Given the description of an element on the screen output the (x, y) to click on. 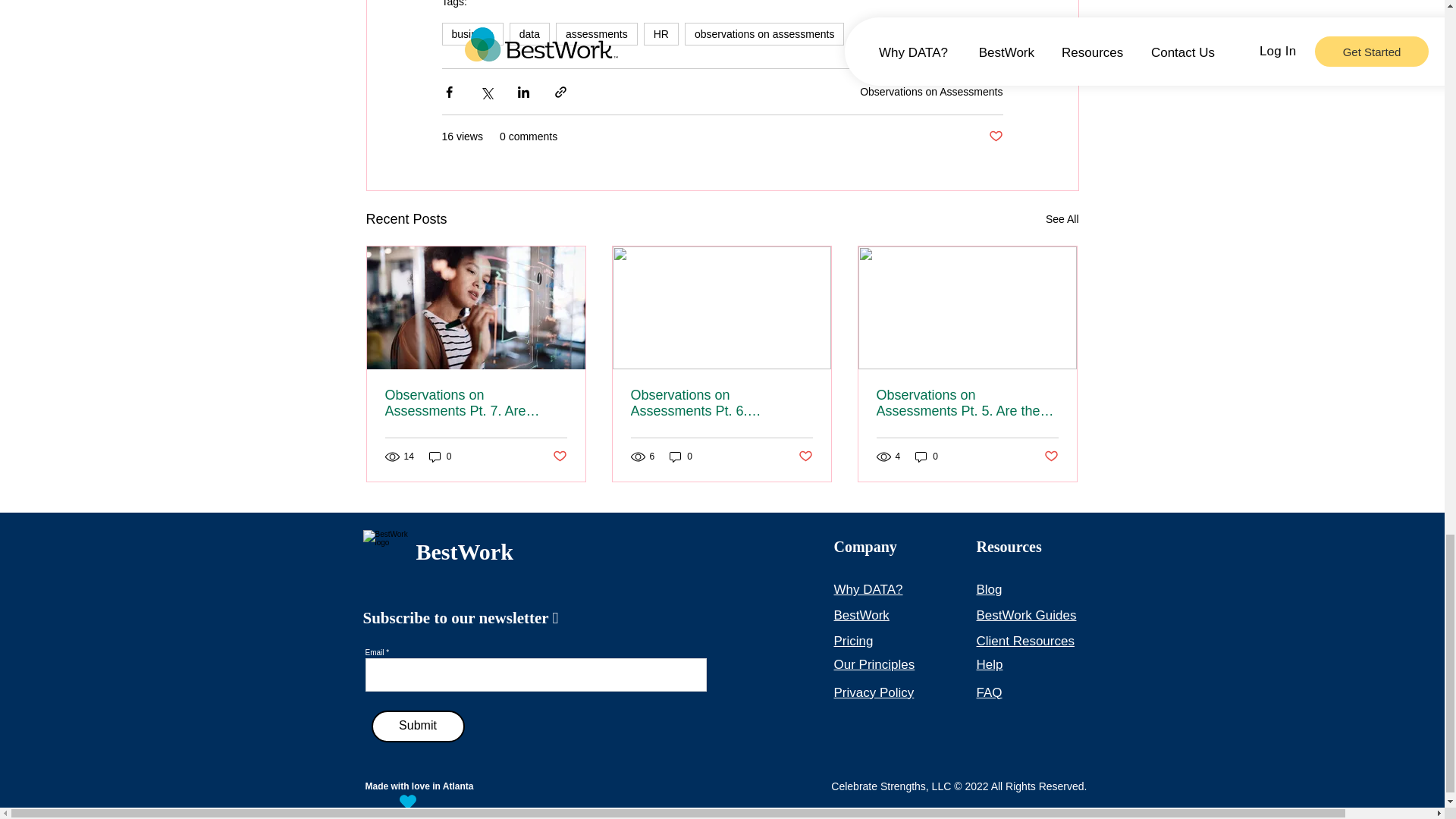
Post not marked as liked (558, 456)
assessments (596, 33)
BestWork (861, 615)
Observations on Assessments (931, 91)
See All (1061, 219)
Our Principles (874, 664)
Post not marked as liked (995, 136)
observations on assessments (764, 33)
business (471, 33)
0 (926, 456)
